Given the description of an element on the screen output the (x, y) to click on. 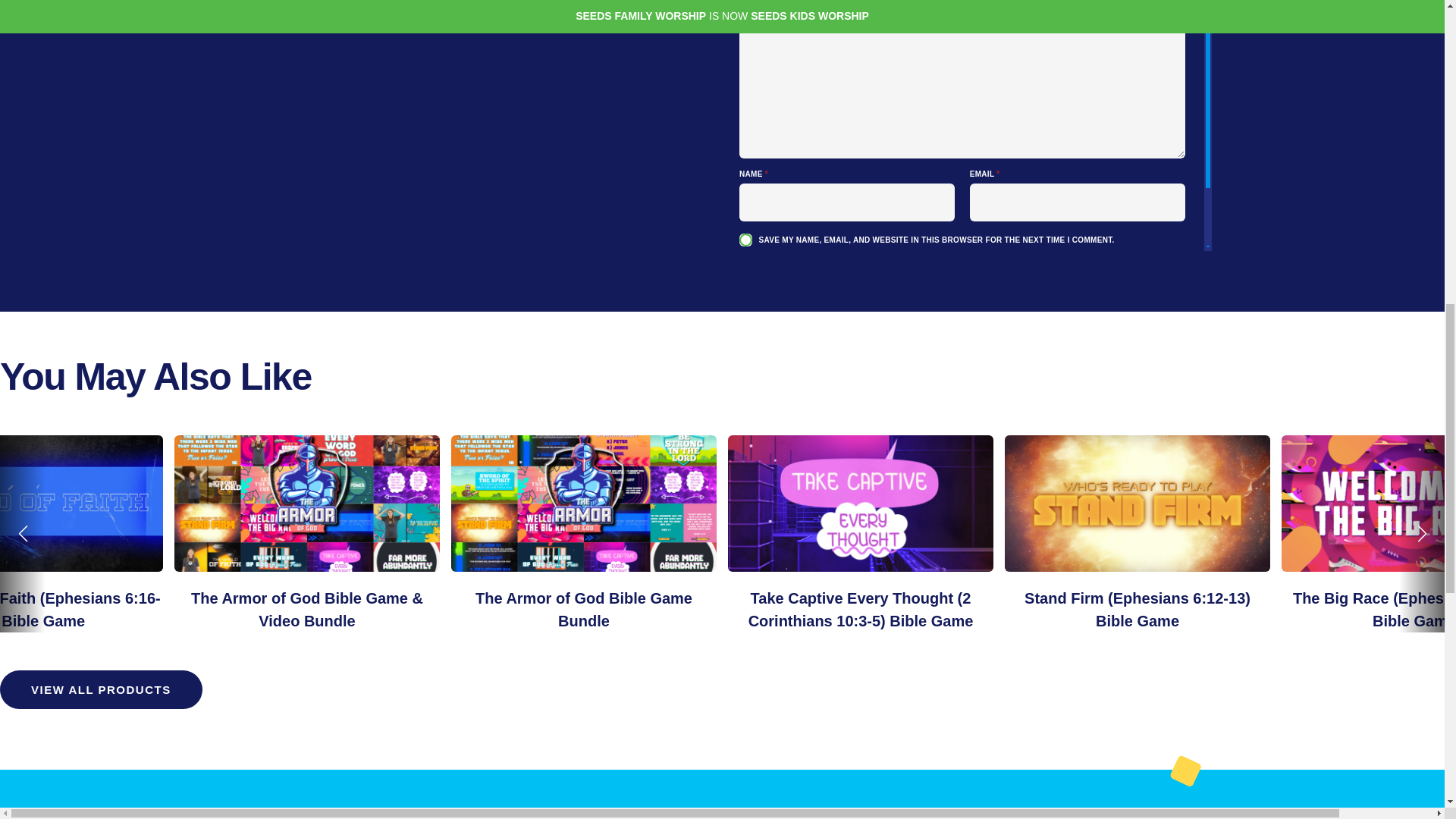
yes (745, 239)
Submit (795, 277)
